Given the description of an element on the screen output the (x, y) to click on. 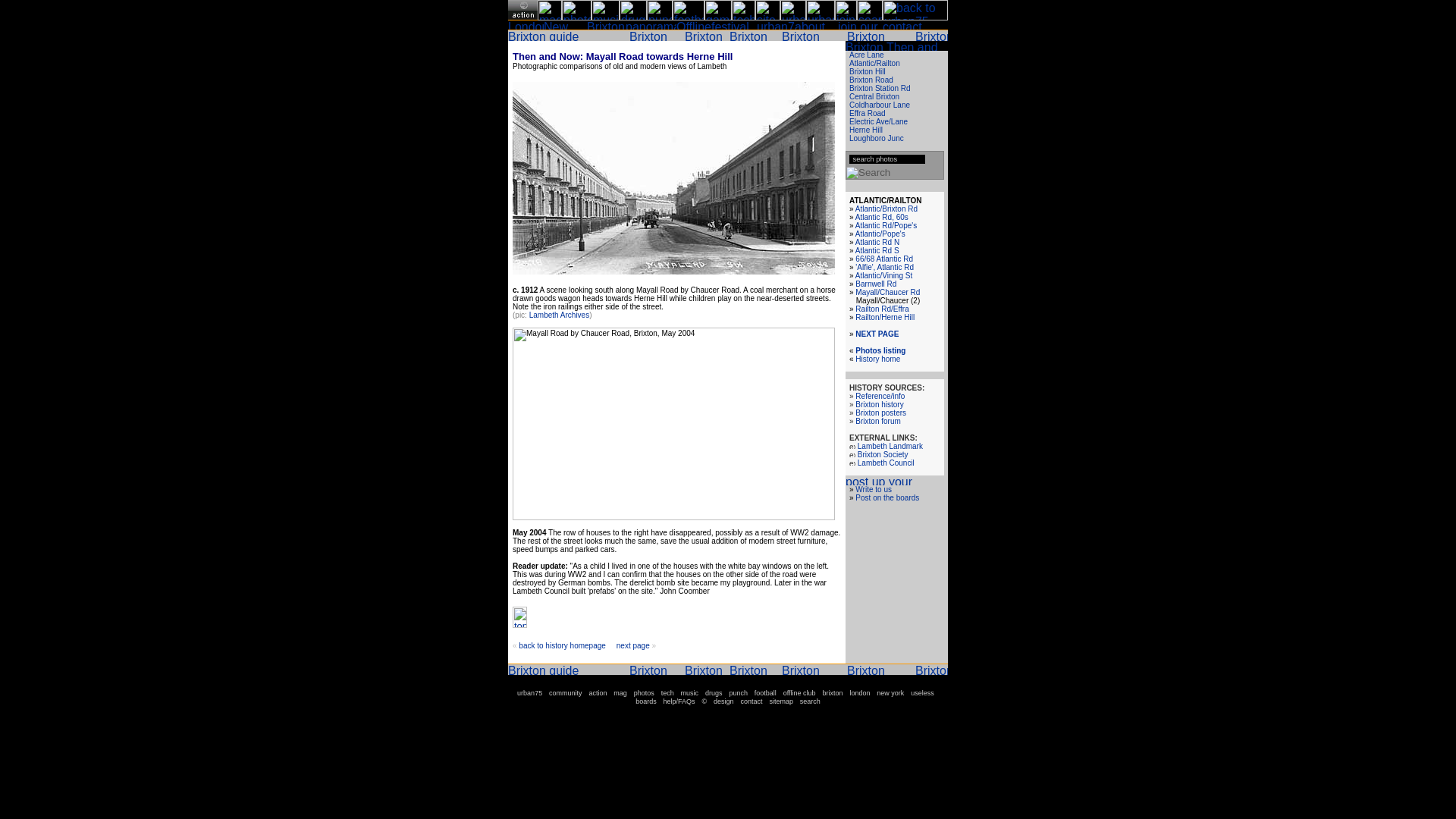
Lambeth Archives (559, 315)
Brixton Hill (866, 71)
back to history homepage (561, 645)
Acre Lane (865, 54)
 search photos (886, 159)
next page (632, 645)
Search (867, 173)
